Given the description of an element on the screen output the (x, y) to click on. 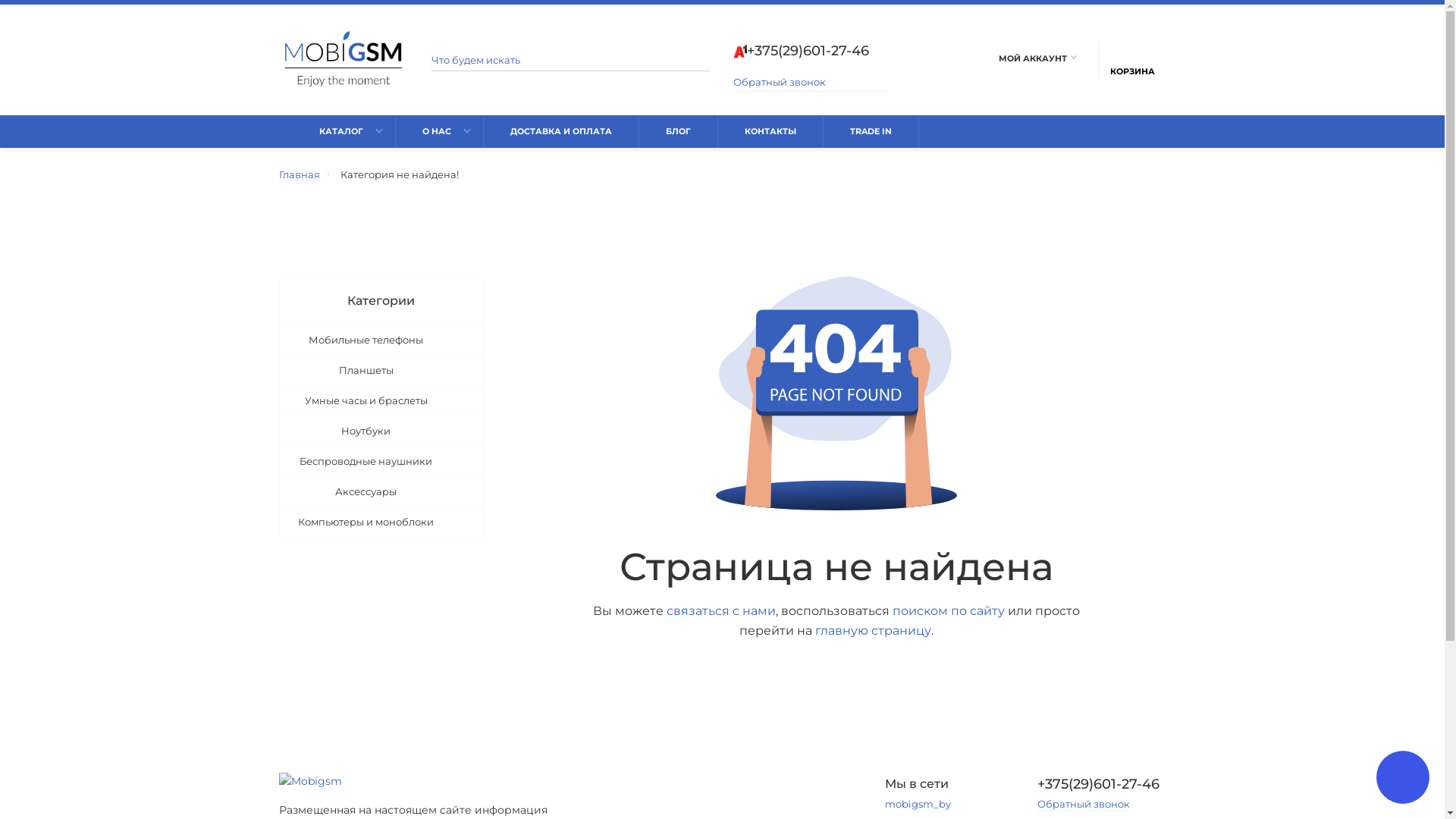
TRADE IN Element type: text (870, 131)
+375(29)601-27-46 Element type: text (810, 50)
mobigsm_by Element type: text (917, 803)
+375(29)601-27-46 Element type: text (801, 50)
+375(29)601-27-46 Element type: text (1101, 783)
Mobigsm Element type: hover (310, 780)
Mobigsm Element type: hover (343, 59)
